Given the description of an element on the screen output the (x, y) to click on. 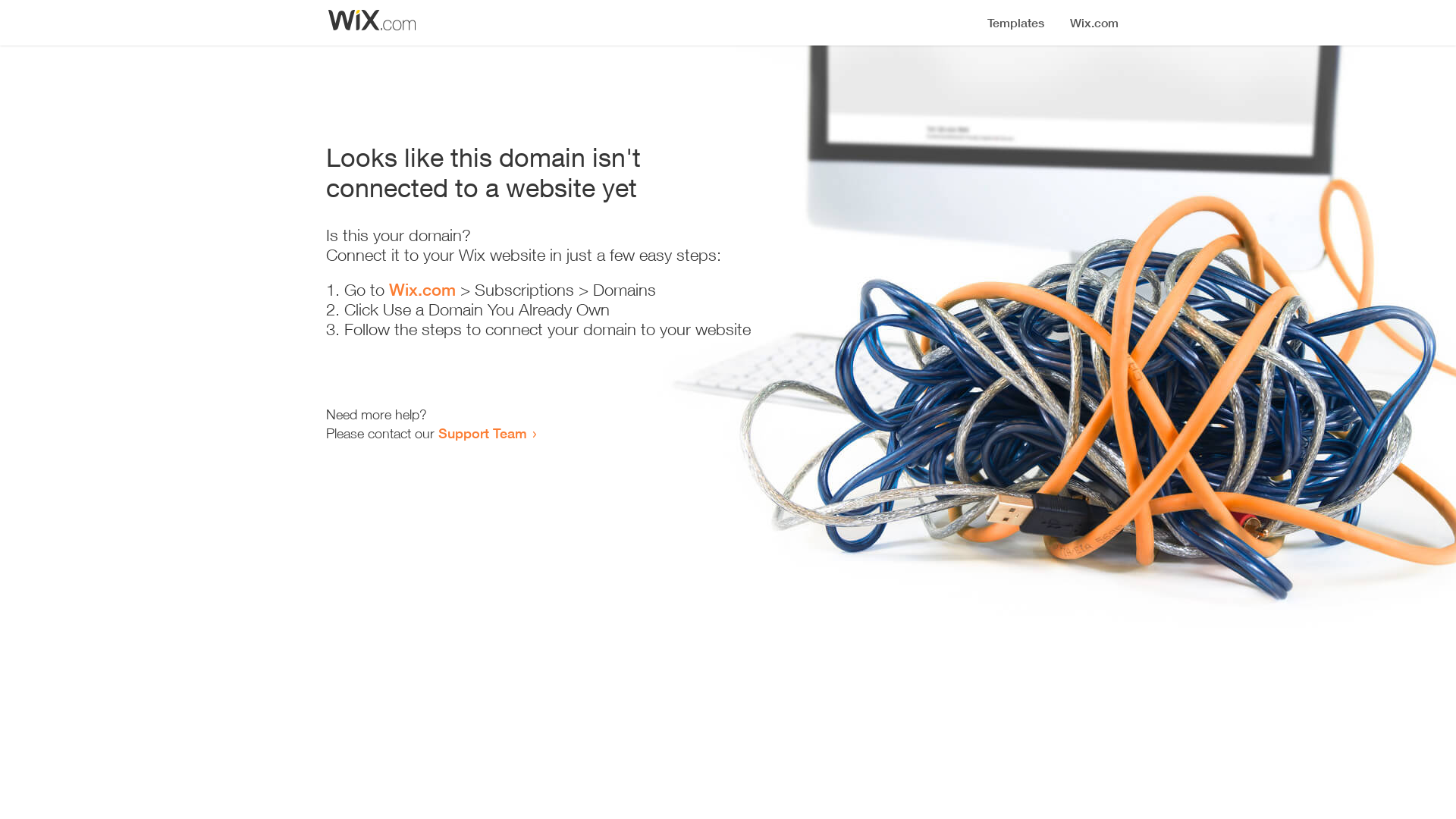
Support Team Element type: text (482, 432)
Wix.com Element type: text (422, 289)
